Given the description of an element on the screen output the (x, y) to click on. 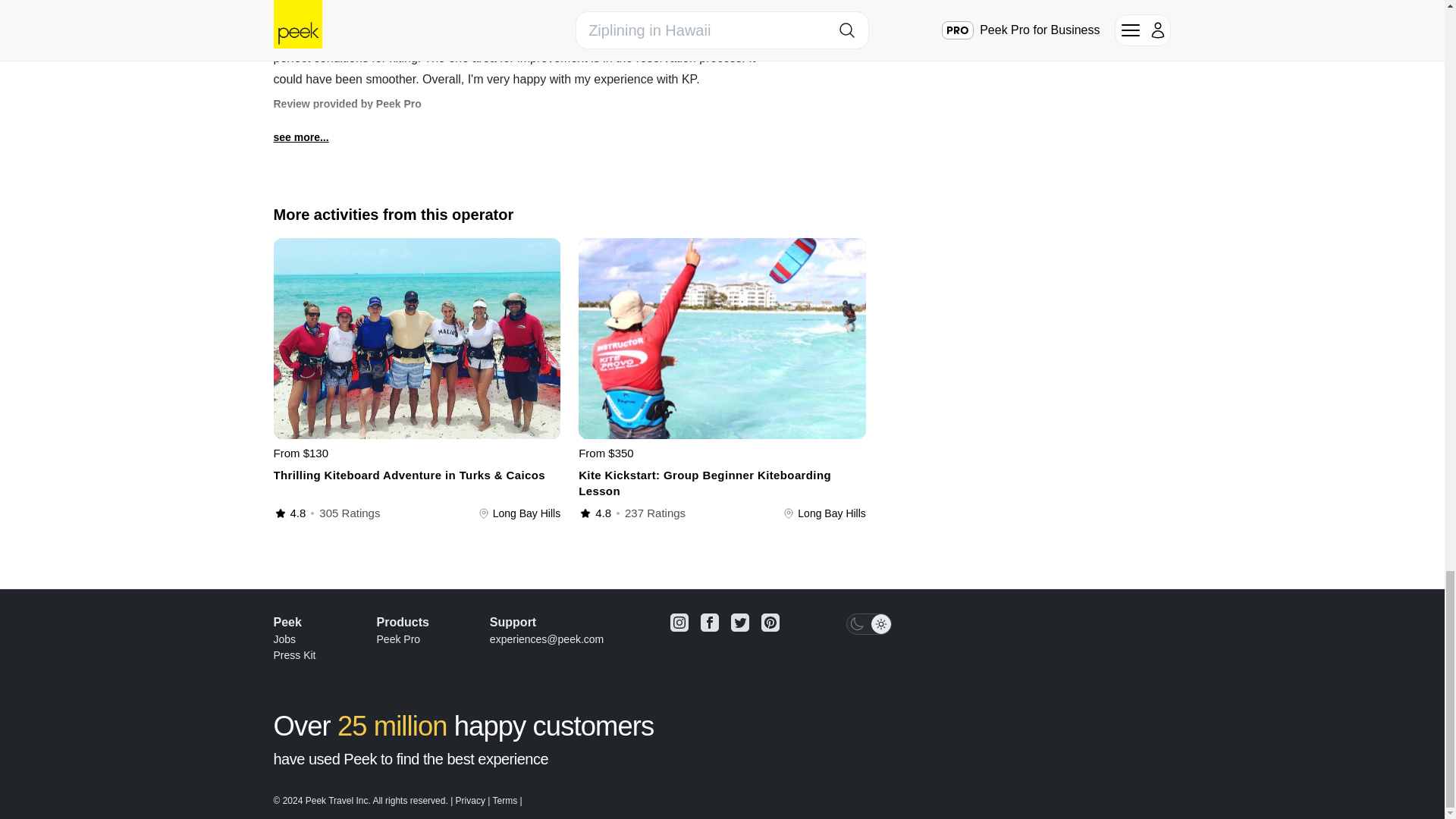
see more... (301, 137)
